Given the description of an element on the screen output the (x, y) to click on. 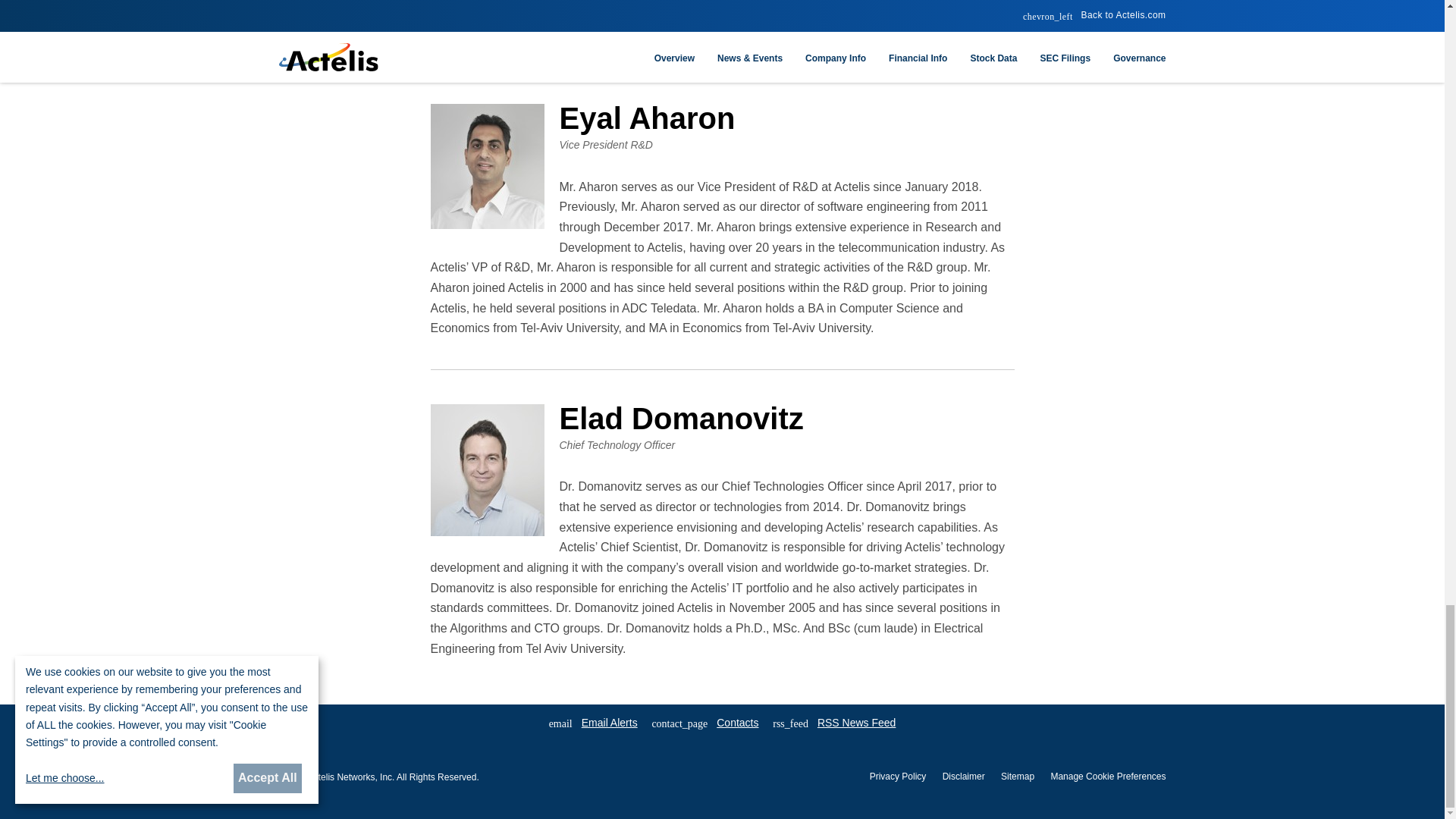
Eyal Aharon (487, 166)
Opens in a new window (834, 722)
